Given the description of an element on the screen output the (x, y) to click on. 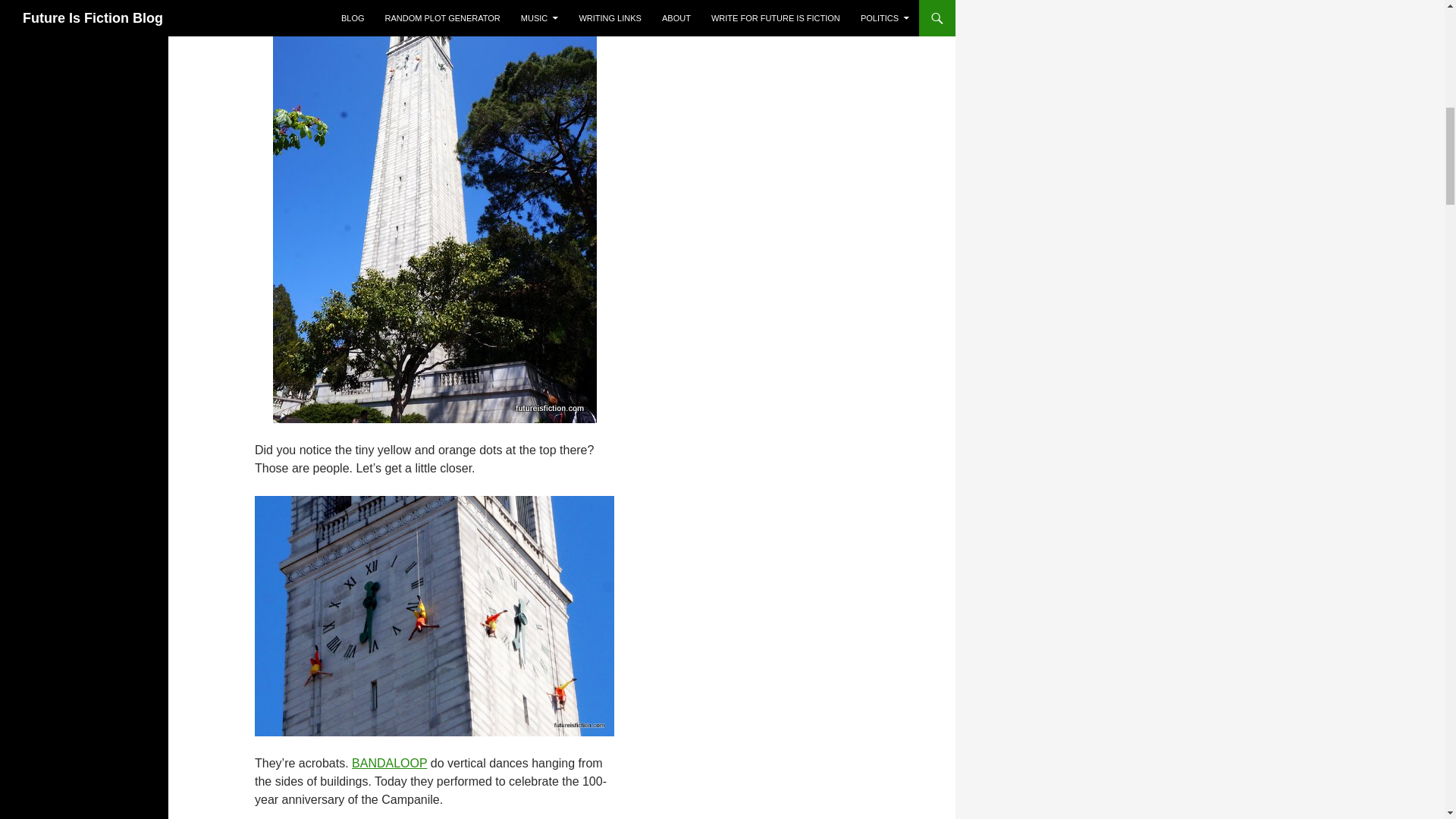
Learn more about BANDALOOP.  (389, 762)
BANDALOOP (389, 762)
